Given the description of an element on the screen output the (x, y) to click on. 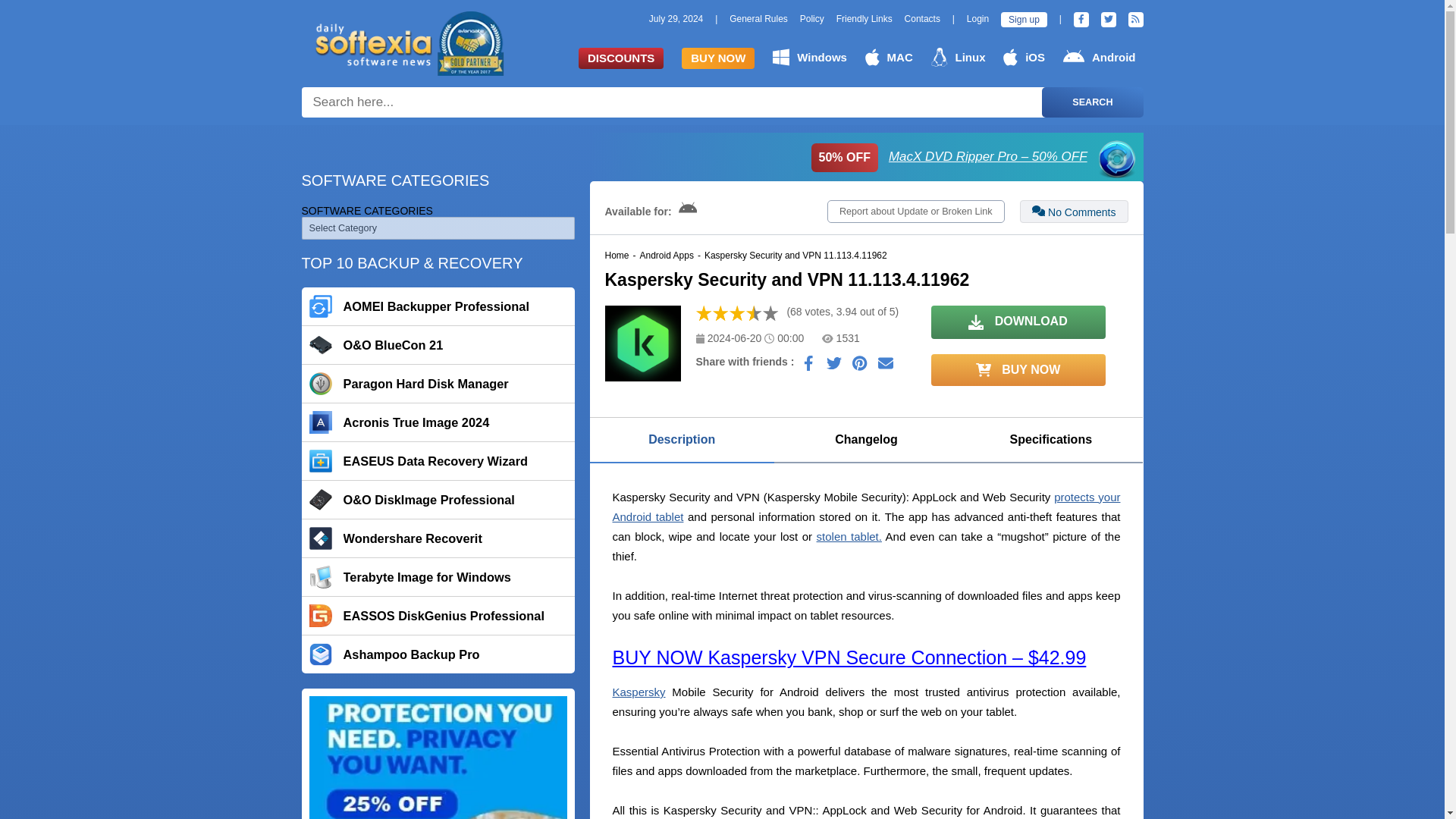
Acronis True Image 2024 (437, 422)
EASEUS Data Recovery Wizard (437, 460)
General Rules (758, 18)
Paragon Hard Disk Manager (437, 383)
Contacts (922, 18)
Terabyte Image for Windows (437, 576)
EASSOS DiskGenius Professional (437, 615)
Ashampoo Backup Pro (437, 653)
RSS (1135, 19)
iOS (1024, 56)
Terabyte Image for Windows (437, 576)
Wondershare Recoverit (437, 538)
EASEUS Data Recovery Wizard (437, 460)
Friendly Links (863, 18)
DISCOUNTS (620, 57)
